Given the description of an element on the screen output the (x, y) to click on. 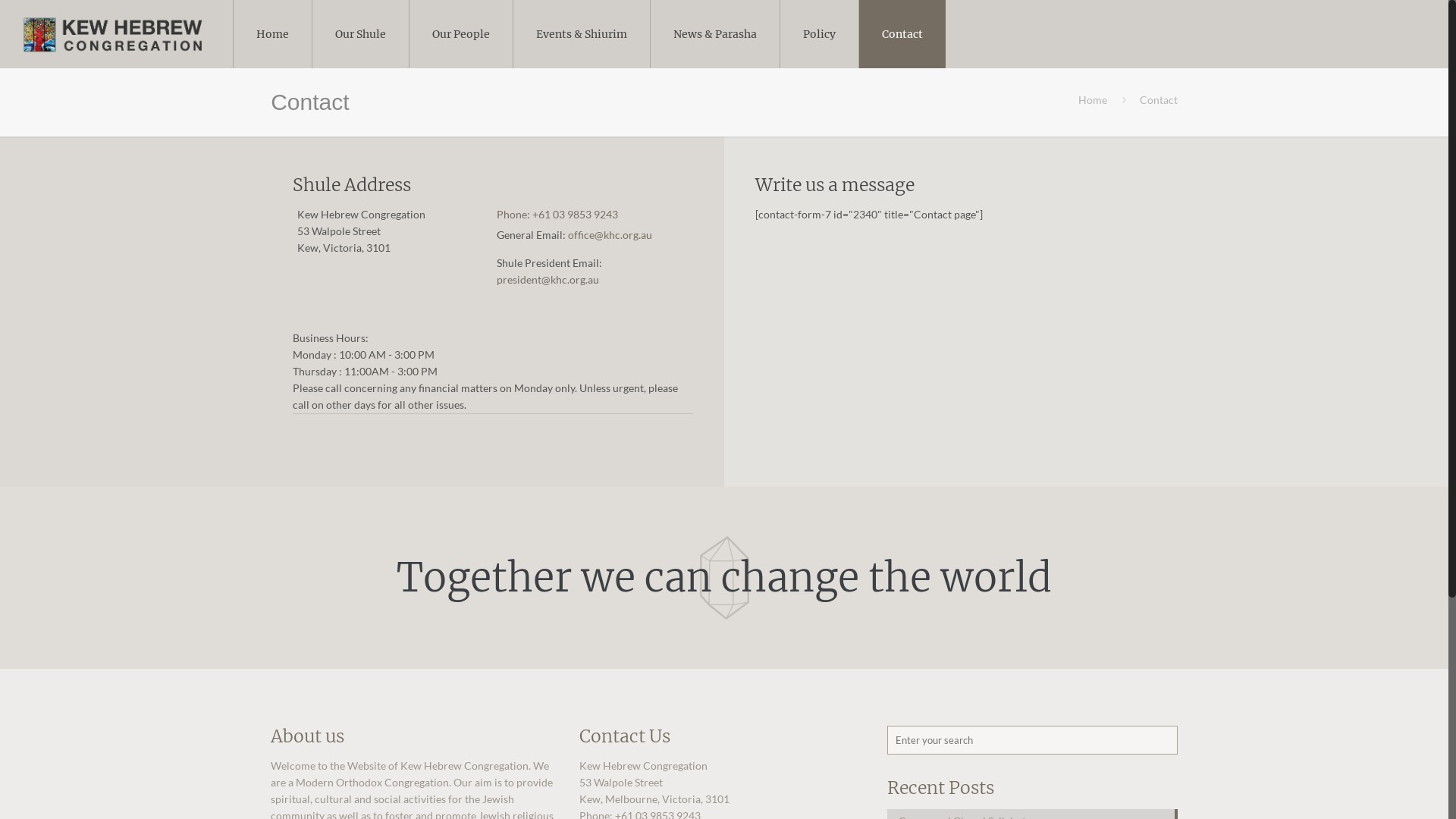
News & Parasha Element type: text (715, 34)
Home Element type: text (272, 34)
office@khc.org.au Element type: text (609, 234)
Events & Shiurim Element type: text (581, 34)
Policy Element type: text (819, 34)
Together we can change the world Element type: text (724, 577)
Our Shule Element type: text (360, 34)
Our People Element type: text (461, 34)
Kew Hebrew Congregation Element type: hover (112, 34)
Phone: +61 03 9853 9243 Element type: text (557, 213)
Home Element type: text (1092, 99)
Contact Element type: text (902, 34)
president@khc.org.au Element type: text (547, 279)
